Given the description of an element on the screen output the (x, y) to click on. 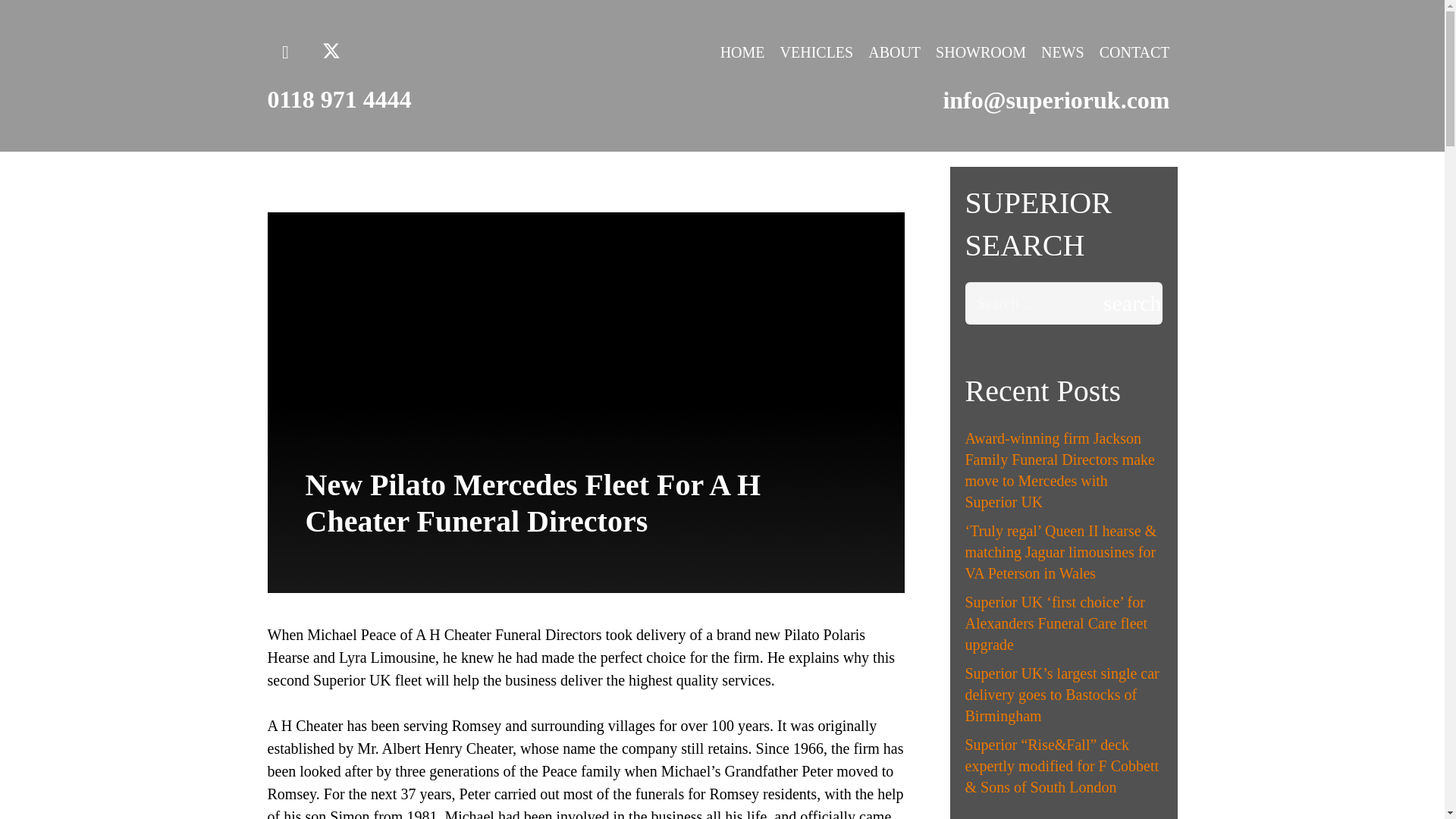
Facebook (284, 52)
0118 971 4444 (338, 99)
HOME (743, 52)
Twitter (331, 52)
ABOUT (894, 52)
NEWS (1062, 52)
SHOWROOM (980, 52)
CONTACT (1134, 52)
VEHICLES (817, 52)
